Given the description of an element on the screen output the (x, y) to click on. 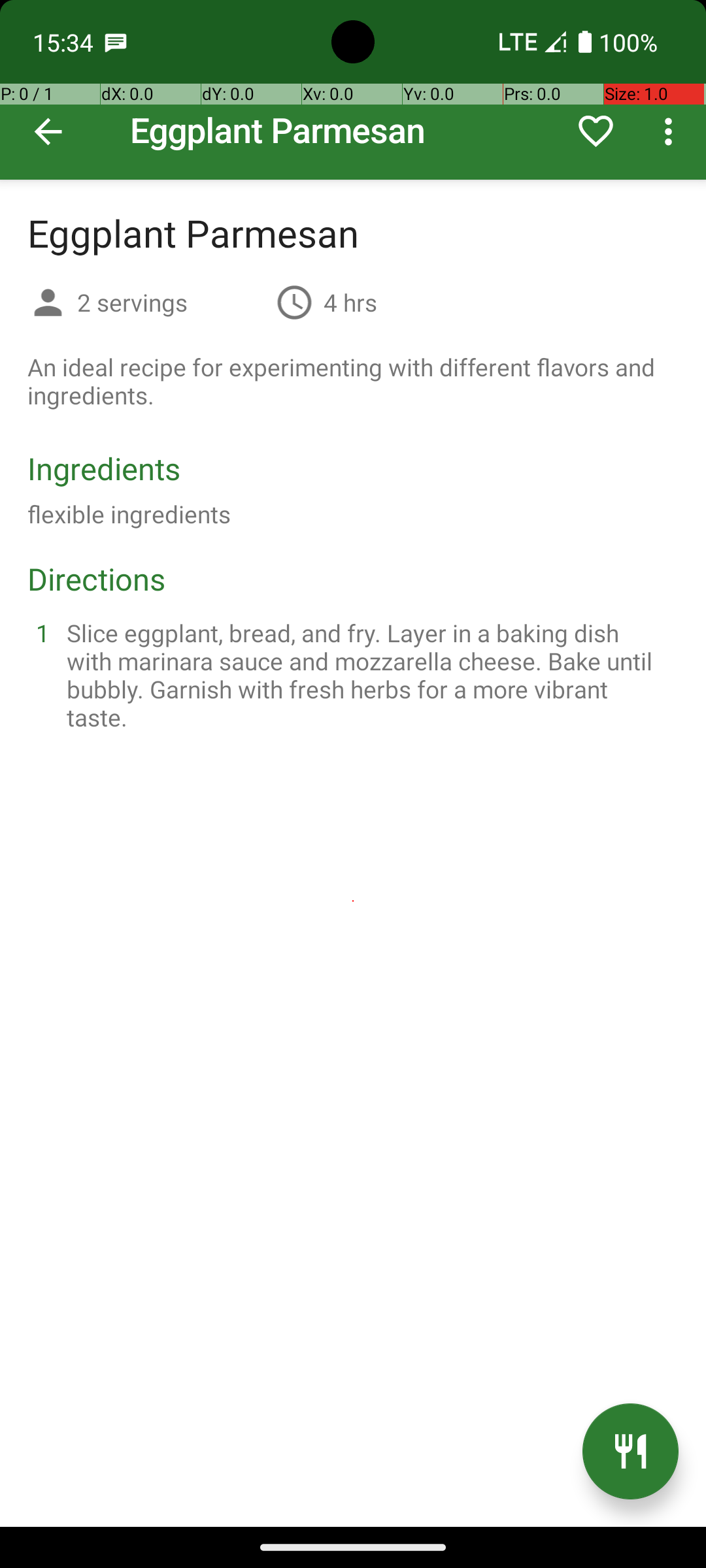
flexible ingredients Element type: android.widget.TextView (128, 513)
Slice eggplant, bread, and fry. Layer in a baking dish with marinara sauce and mozzarella cheese. Bake until bubbly. Garnish with fresh herbs for a more vibrant taste. Element type: android.widget.TextView (368, 674)
